Given the description of an element on the screen output the (x, y) to click on. 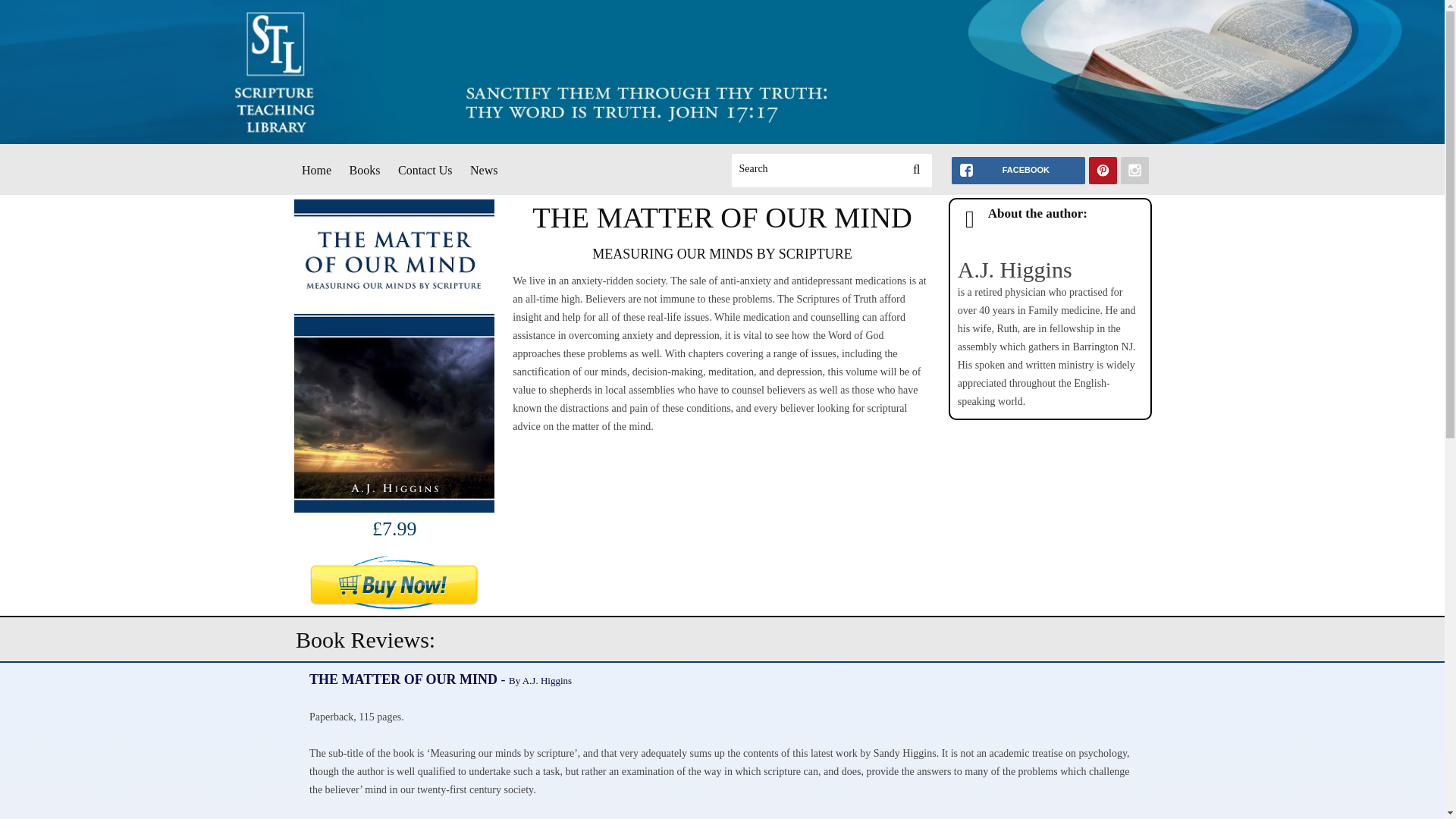
Search (815, 168)
News (484, 170)
Contact Us (425, 170)
Home (316, 170)
Search (815, 168)
FACEBOOK (1018, 170)
Books (365, 170)
